Given the description of an element on the screen output the (x, y) to click on. 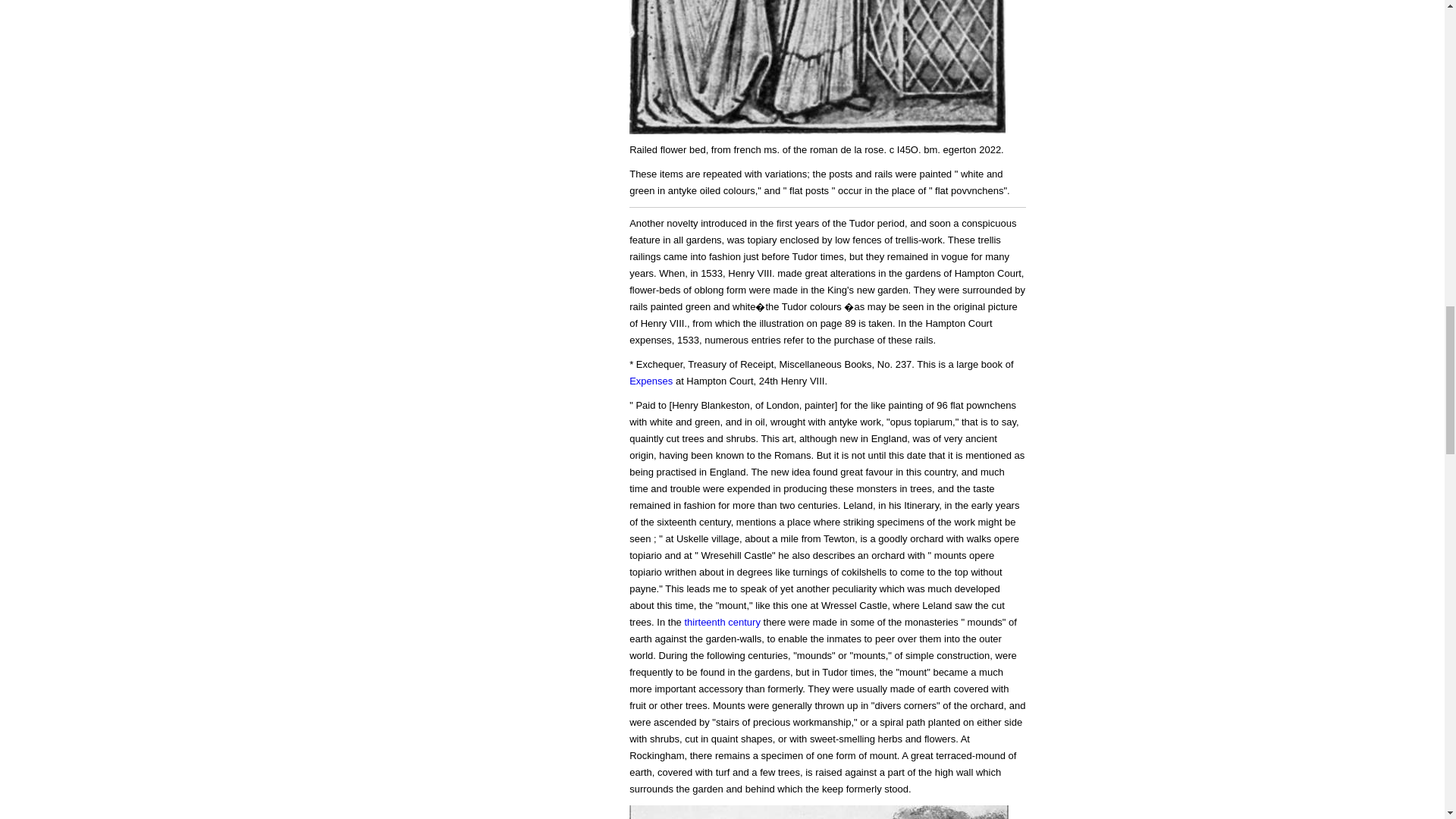
thirteenth century (722, 622)
Expenses (650, 380)
